Given the description of an element on the screen output the (x, y) to click on. 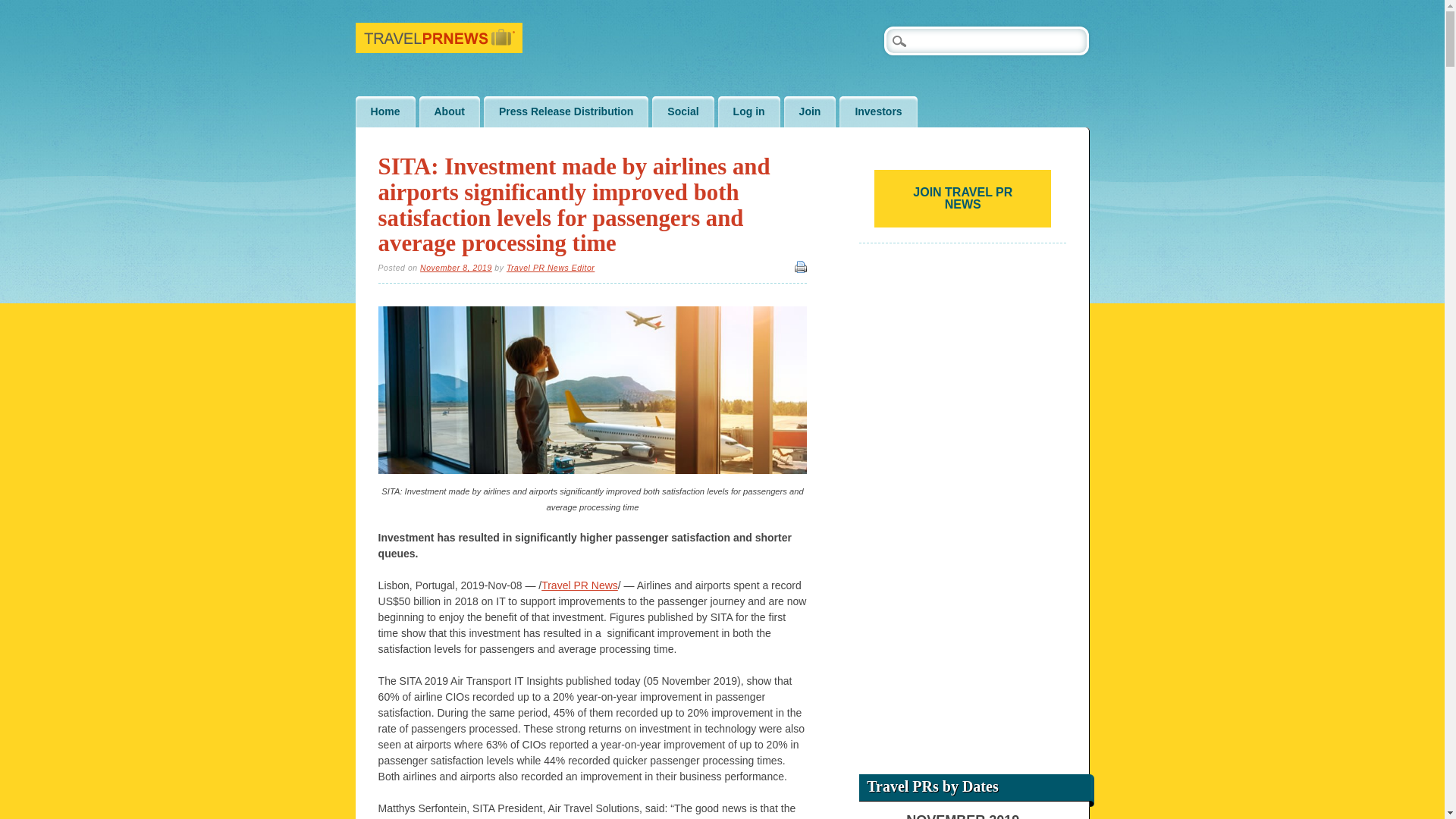
Social (682, 111)
About (449, 111)
JOIN TRAVEL PR NEWS (963, 198)
Print Press Release (800, 266)
Log in (748, 111)
November 8, 2019 (456, 266)
Home (384, 111)
Travel PR News (438, 49)
Press Release Distribution (565, 111)
Search (22, 8)
